Given the description of an element on the screen output the (x, y) to click on. 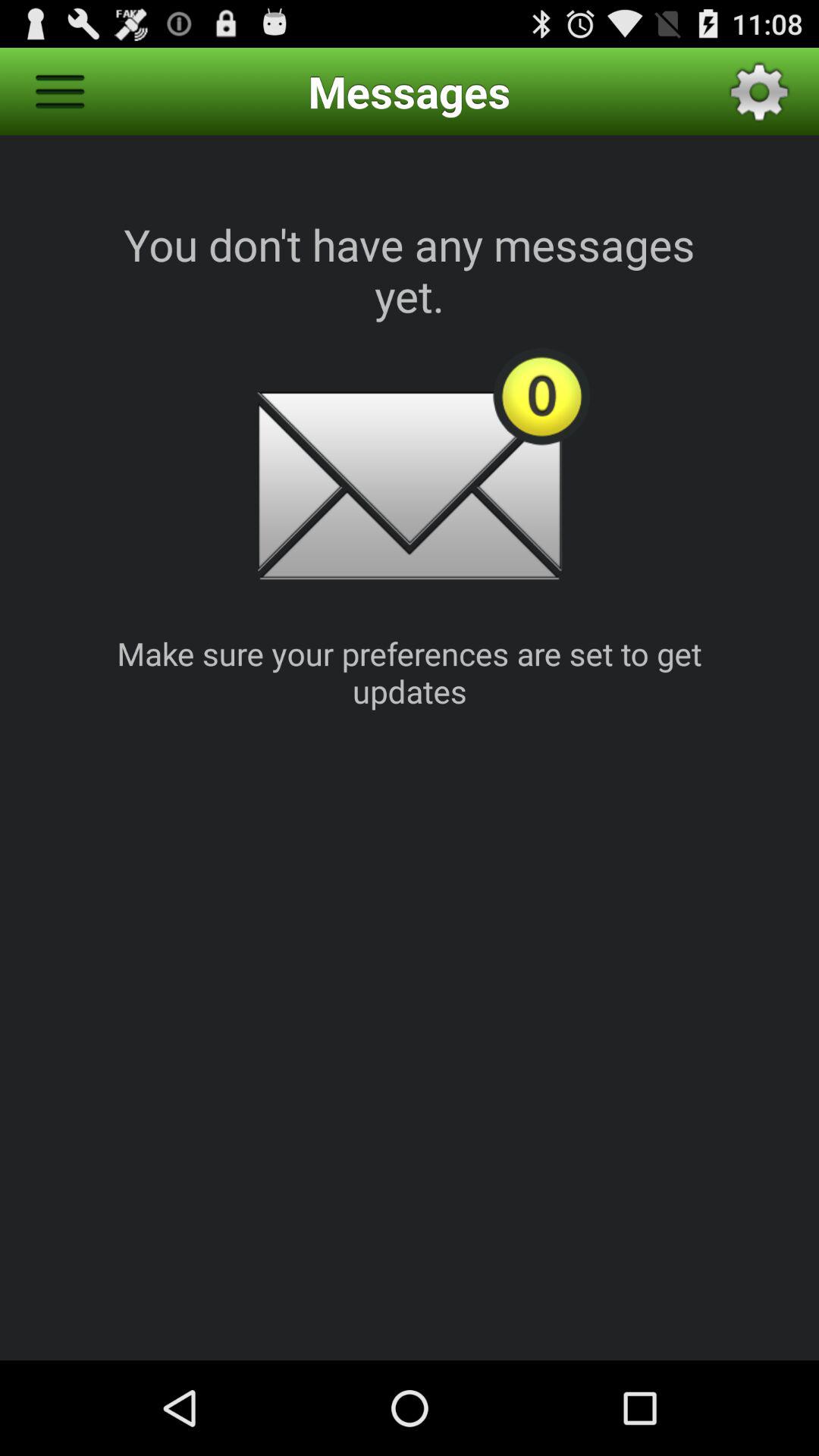
click item above the you don t (759, 91)
